Given the description of an element on the screen output the (x, y) to click on. 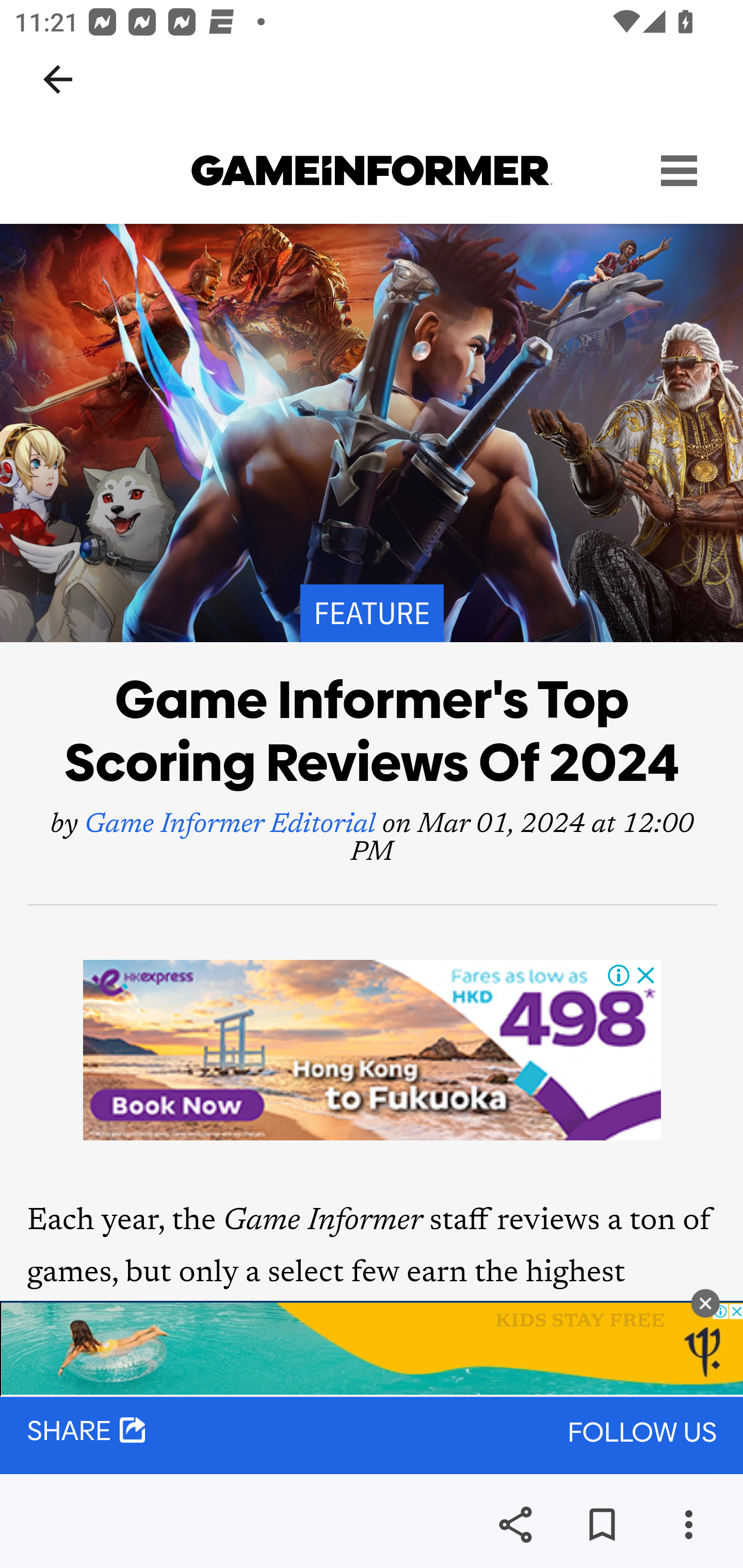
Navigate up (57, 79)
www.gameinformer (371, 170)
Game Informer Editorial (230, 827)
Advertisement (372, 1049)
Share (514, 1524)
Save for later (601, 1524)
More options (688, 1524)
